Given the description of an element on the screen output the (x, y) to click on. 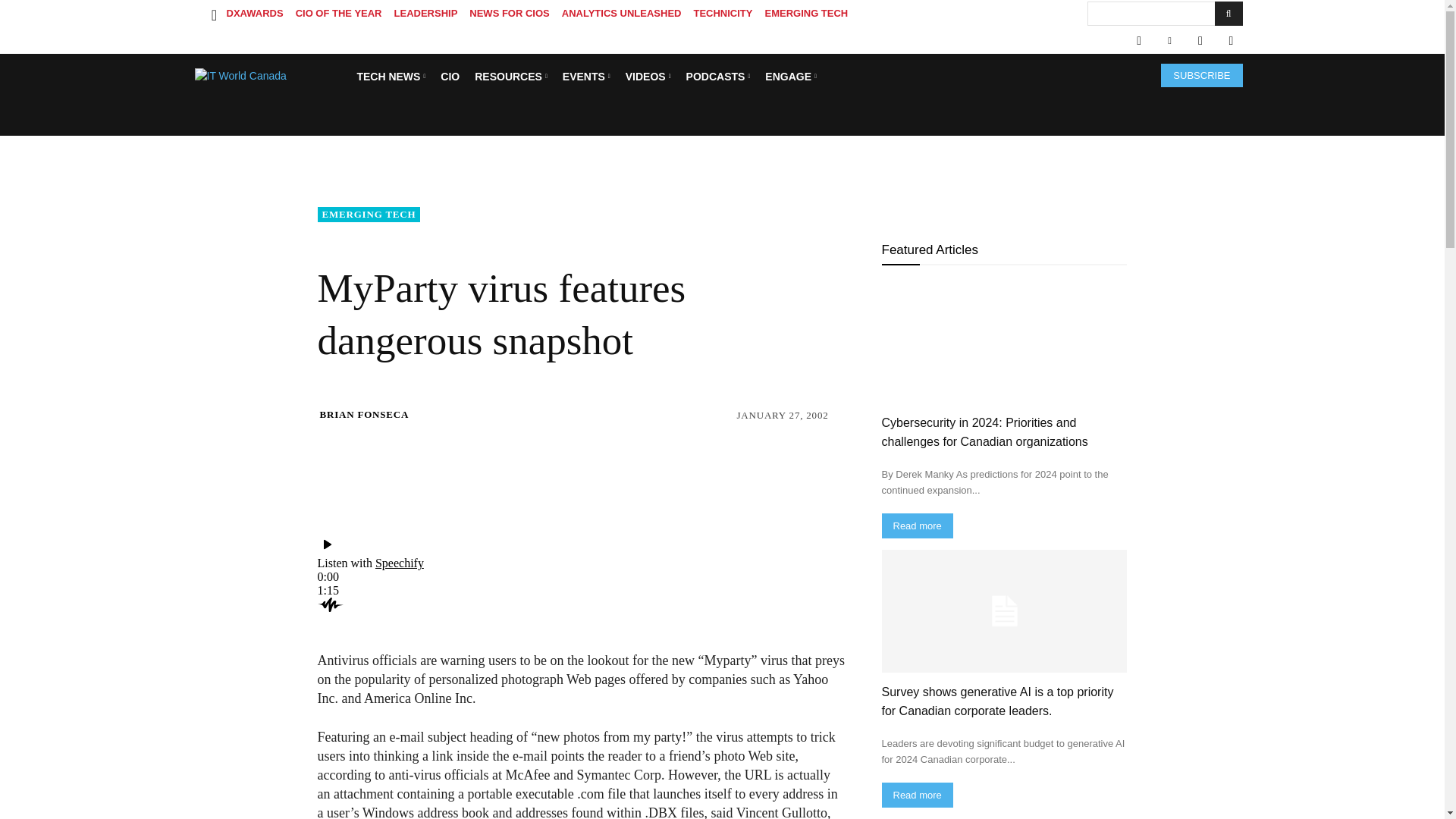
Youtube (1230, 40)
Facebook (1138, 40)
Linkedin (1168, 40)
IT World Canada - IT News (269, 76)
Twitter (1200, 40)
